Given the description of an element on the screen output the (x, y) to click on. 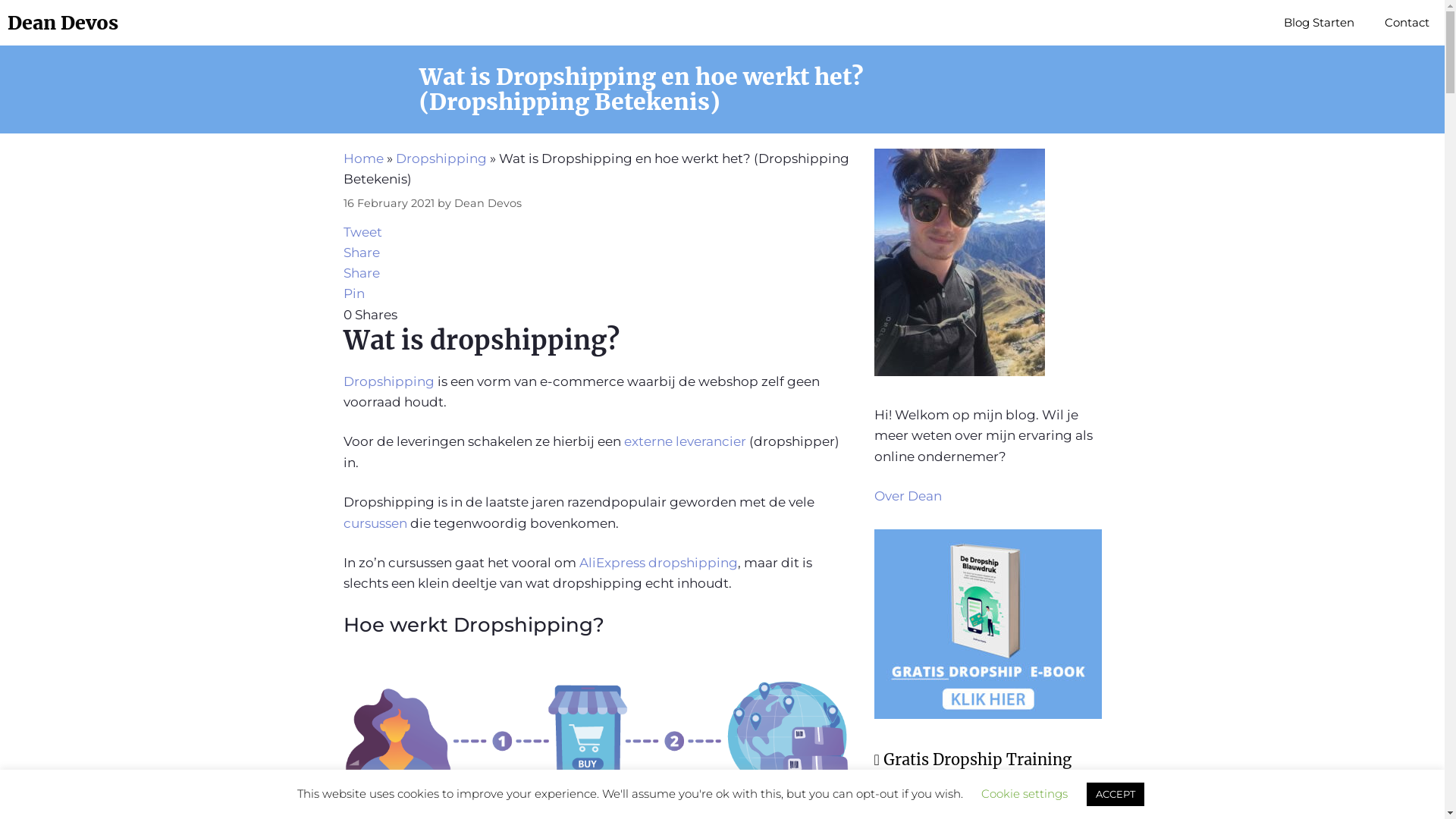
Over Dean Element type: text (907, 495)
externe leverancier Element type: text (684, 440)
Home Element type: text (362, 158)
Cookie settings Element type: text (1024, 793)
Share Element type: text (360, 272)
cursussen Element type: text (375, 522)
Dean Devos Element type: text (62, 22)
ACCEPT Element type: text (1114, 794)
Share Element type: text (360, 252)
AliExpress dropshipping Element type: text (658, 562)
Contact Element type: text (1406, 22)
Dropshipping Element type: text (389, 381)
Pin Element type: text (353, 293)
Dropshipping Element type: text (440, 158)
Dean Devos Element type: text (486, 203)
Blog Starten Element type: text (1318, 22)
Tweet Element type: text (361, 231)
